Given the description of an element on the screen output the (x, y) to click on. 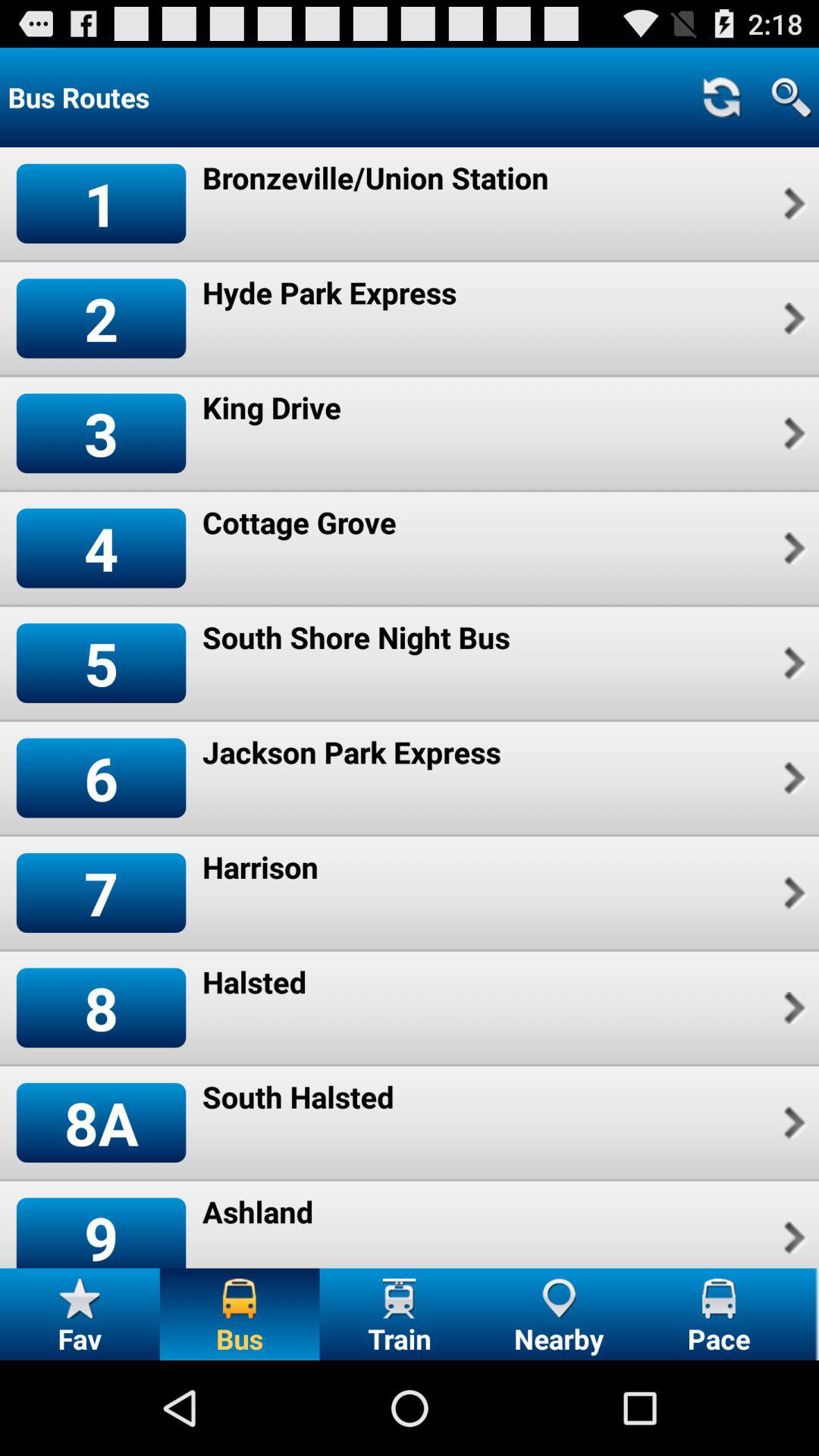
tap icon below 6 icon (100, 892)
